Given the description of an element on the screen output the (x, y) to click on. 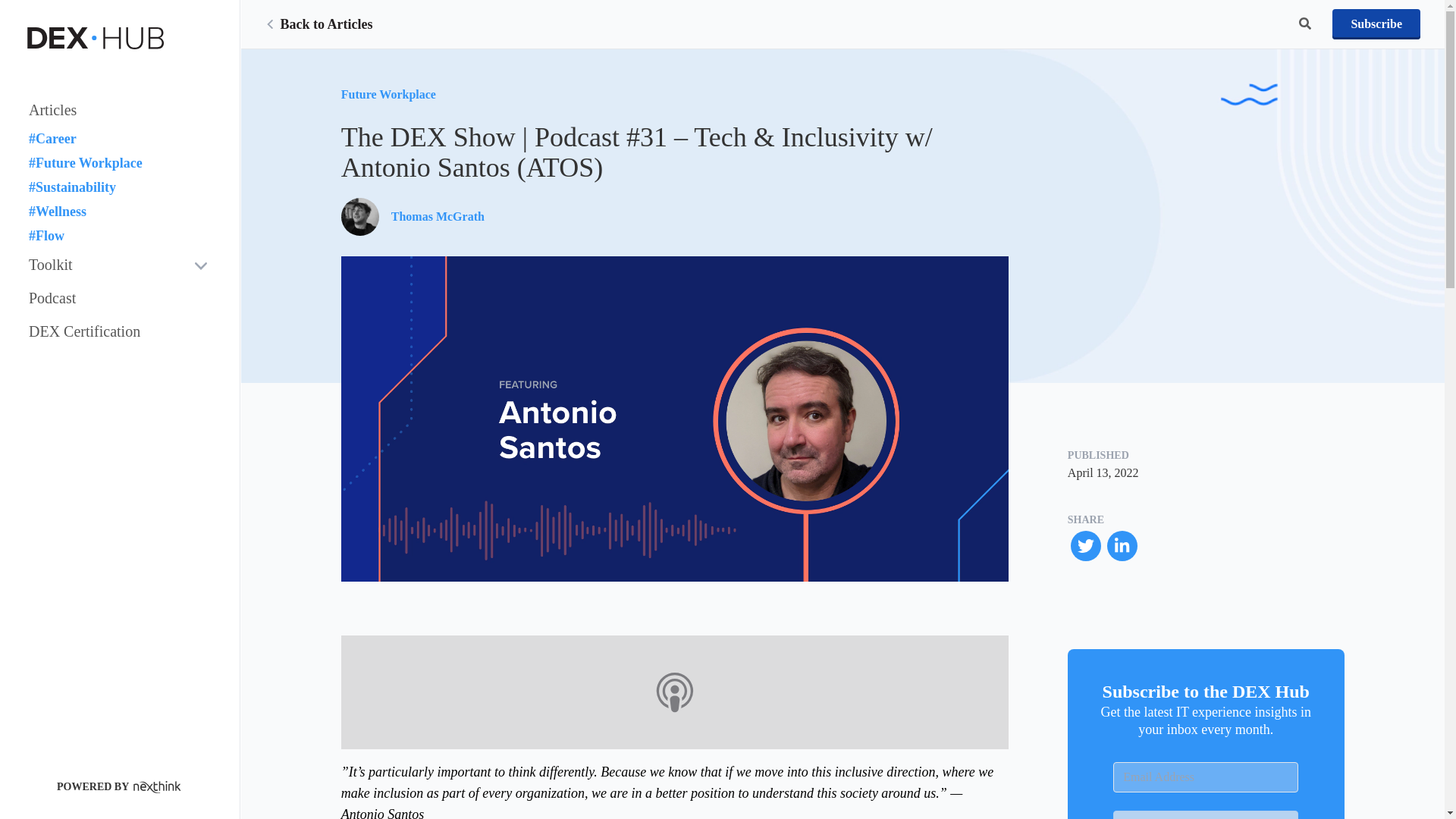
Articles (120, 109)
Toolkit (120, 264)
Thomas McGrath (412, 216)
Future Workplace (387, 94)
DEX Certification (120, 331)
Back to Articles (318, 24)
Podcast (120, 297)
POWERED BY (119, 786)
Subscribe (1376, 24)
